Given the description of an element on the screen output the (x, y) to click on. 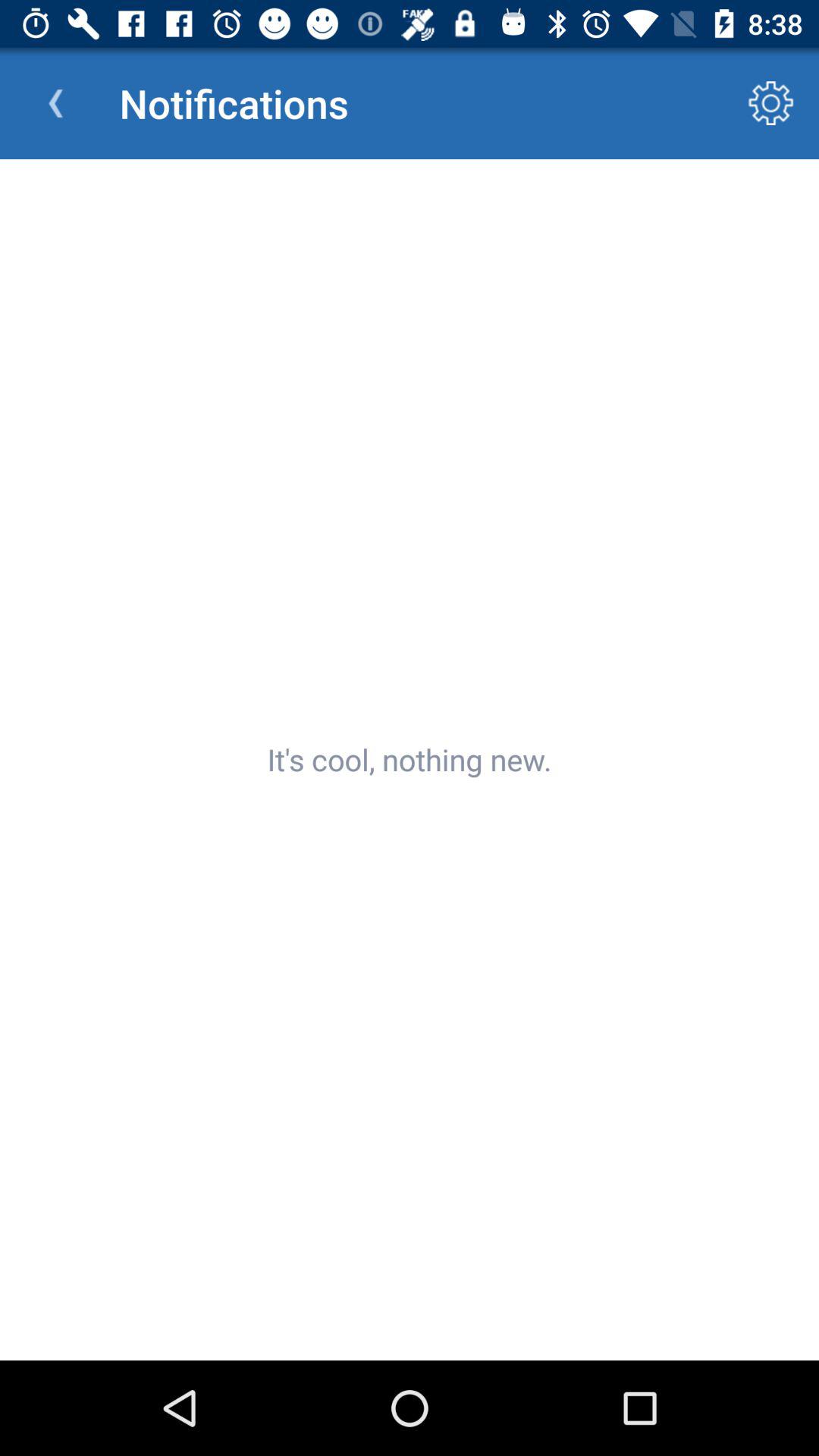
select the item above it s cool (55, 103)
